Given the description of an element on the screen output the (x, y) to click on. 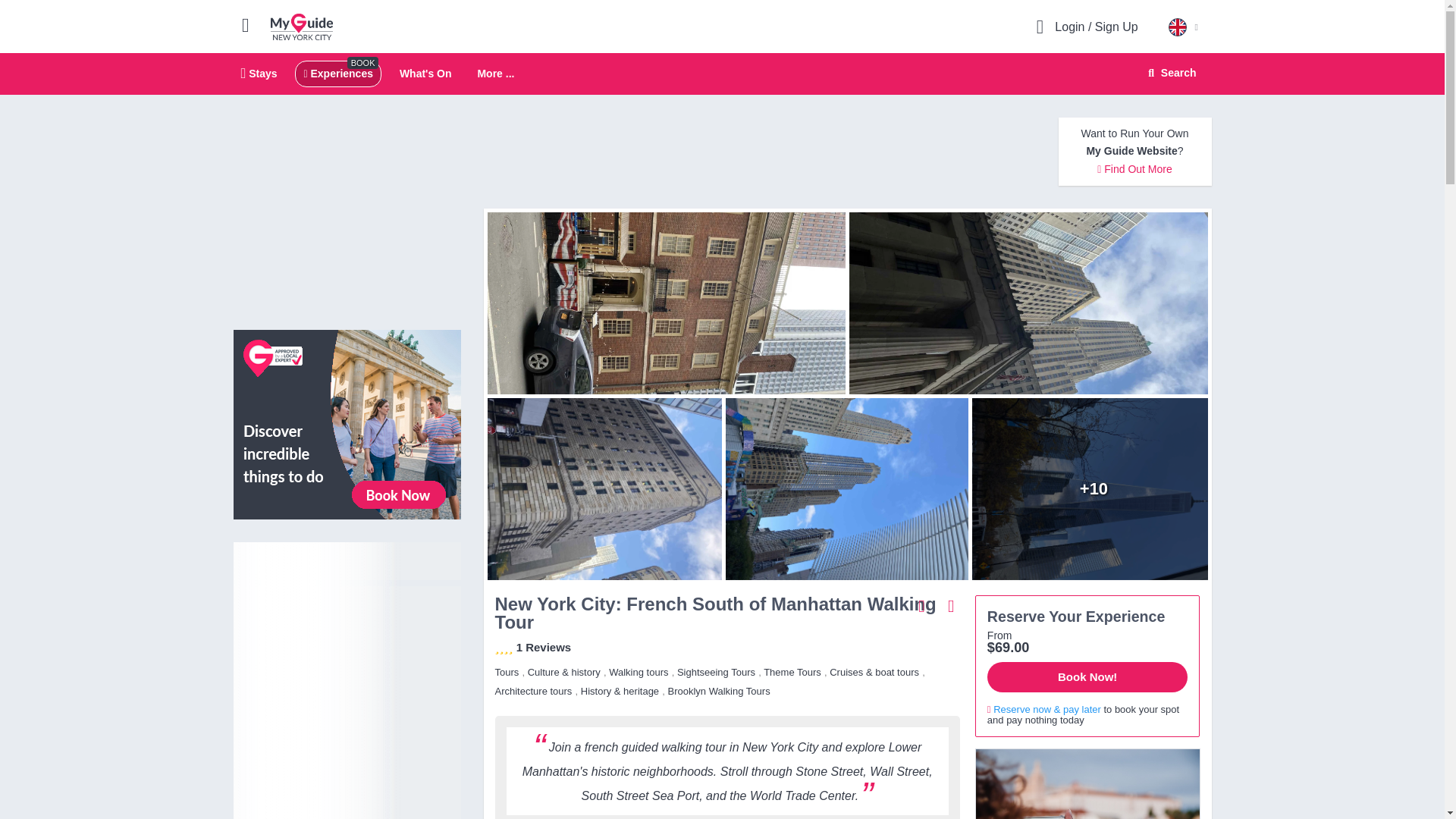
My Guide New York City (301, 25)
What's On (424, 73)
GetYourGuide Widget (1087, 783)
New York City: French South of Manhattan Walking Tour (846, 488)
New York City: French South of Manhattan Walking Tour (600, 488)
New York City: French South of Manhattan Walking Tour (1093, 488)
New York City: French South of Manhattan Walking Tour (662, 302)
Stays (259, 73)
Experiences (337, 73)
More ... (495, 73)
New York City: French South of Manhattan Walking Tour (721, 74)
Search (1031, 302)
